Given the description of an element on the screen output the (x, y) to click on. 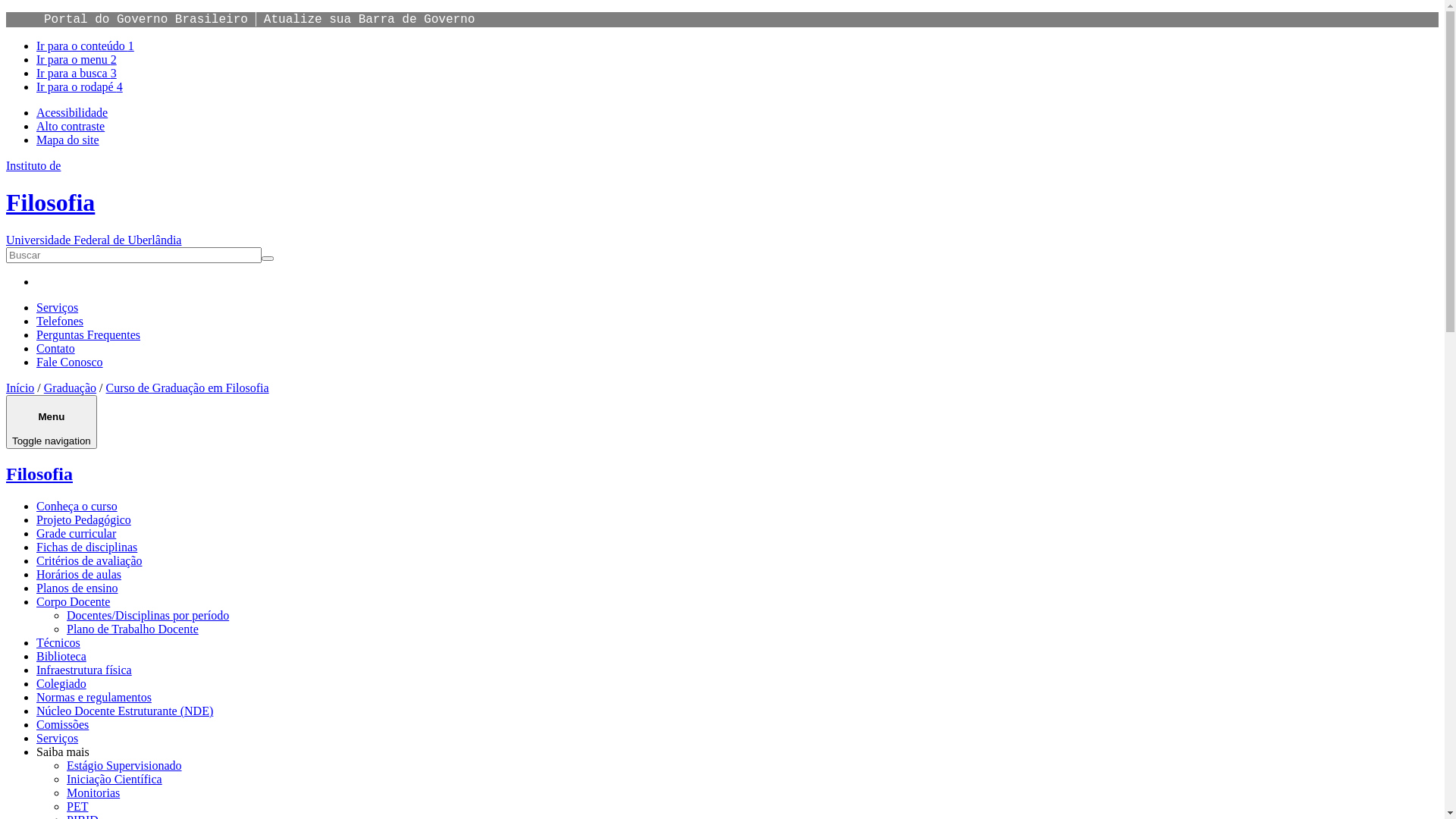
Biblioteca Element type: text (61, 655)
Buscar Element type: text (27, 265)
Fichas de disciplinas Element type: text (86, 546)
Ir para o menu 2 Element type: text (76, 59)
Portal do Governo Brasileiro Element type: text (145, 19)
Planos de ensino Element type: text (77, 587)
Contato Element type: text (55, 348)
Telefones Element type: text (59, 320)
Plano de Trabalho Docente Element type: text (132, 628)
Grade curricular Element type: text (76, 533)
Alto contraste Element type: text (70, 125)
Filosofia Element type: text (39, 473)
Monitorias Element type: text (92, 792)
PET Element type: text (76, 806)
Acessibilidade Element type: text (71, 112)
Normas e regulamentos Element type: text (93, 696)
Corpo Docente Element type: text (72, 601)
Colegiado Element type: text (61, 683)
Atualize sua Barra de Governo Element type: text (368, 19)
Saiba mais Element type: text (62, 751)
Fale Conosco Element type: text (69, 361)
Mapa do site Element type: text (67, 139)
Menu
Toggle navigation Element type: text (51, 421)
Ir para a busca 3 Element type: text (76, 72)
Perguntas Frequentes Element type: text (88, 334)
